Given the description of an element on the screen output the (x, y) to click on. 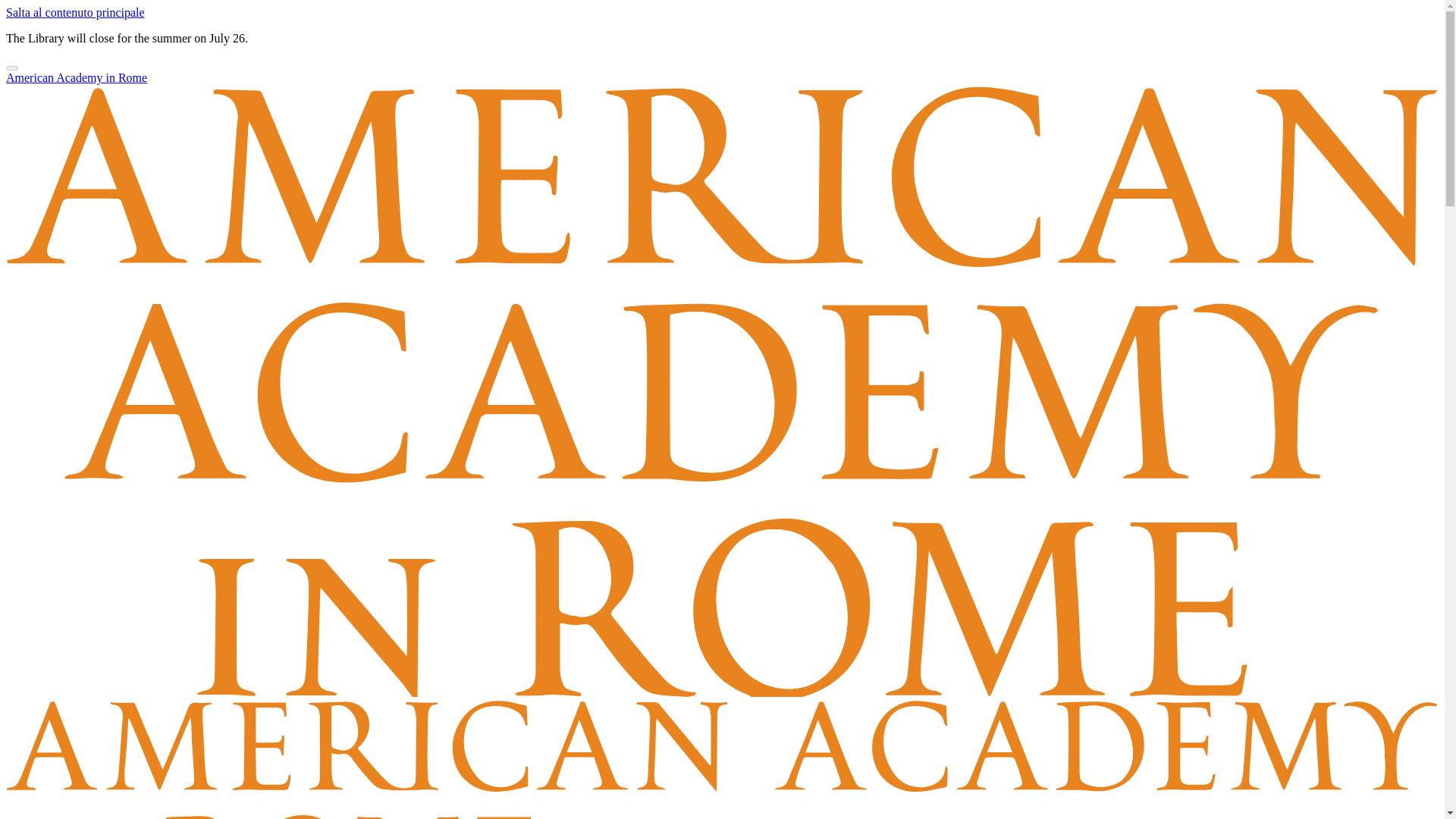
Salta al contenuto principale (74, 11)
